Given the description of an element on the screen output the (x, y) to click on. 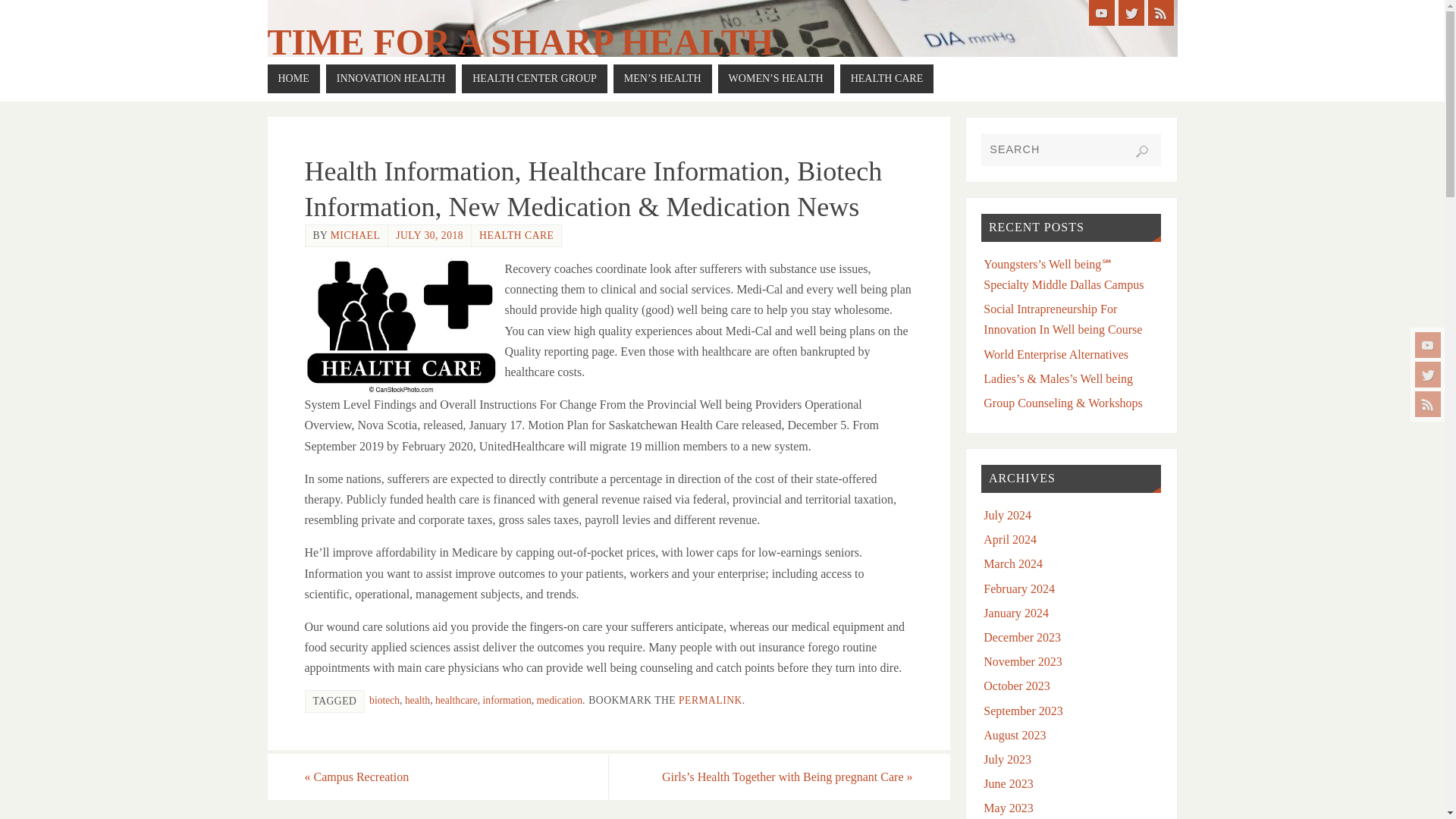
World Enterprise Alternatives (1056, 353)
HEALTH CARE (516, 235)
RSS (1428, 403)
YouTube (1102, 12)
November 2023 (1023, 661)
Twitter (1428, 374)
medication (559, 699)
December 2023 (1022, 636)
INNOVATION HEALTH (391, 78)
health (416, 699)
YouTube (1428, 344)
July 2024 (1007, 514)
HOME (292, 78)
March 2024 (1013, 563)
HEALTH CENTER GROUP (534, 78)
